Given the description of an element on the screen output the (x, y) to click on. 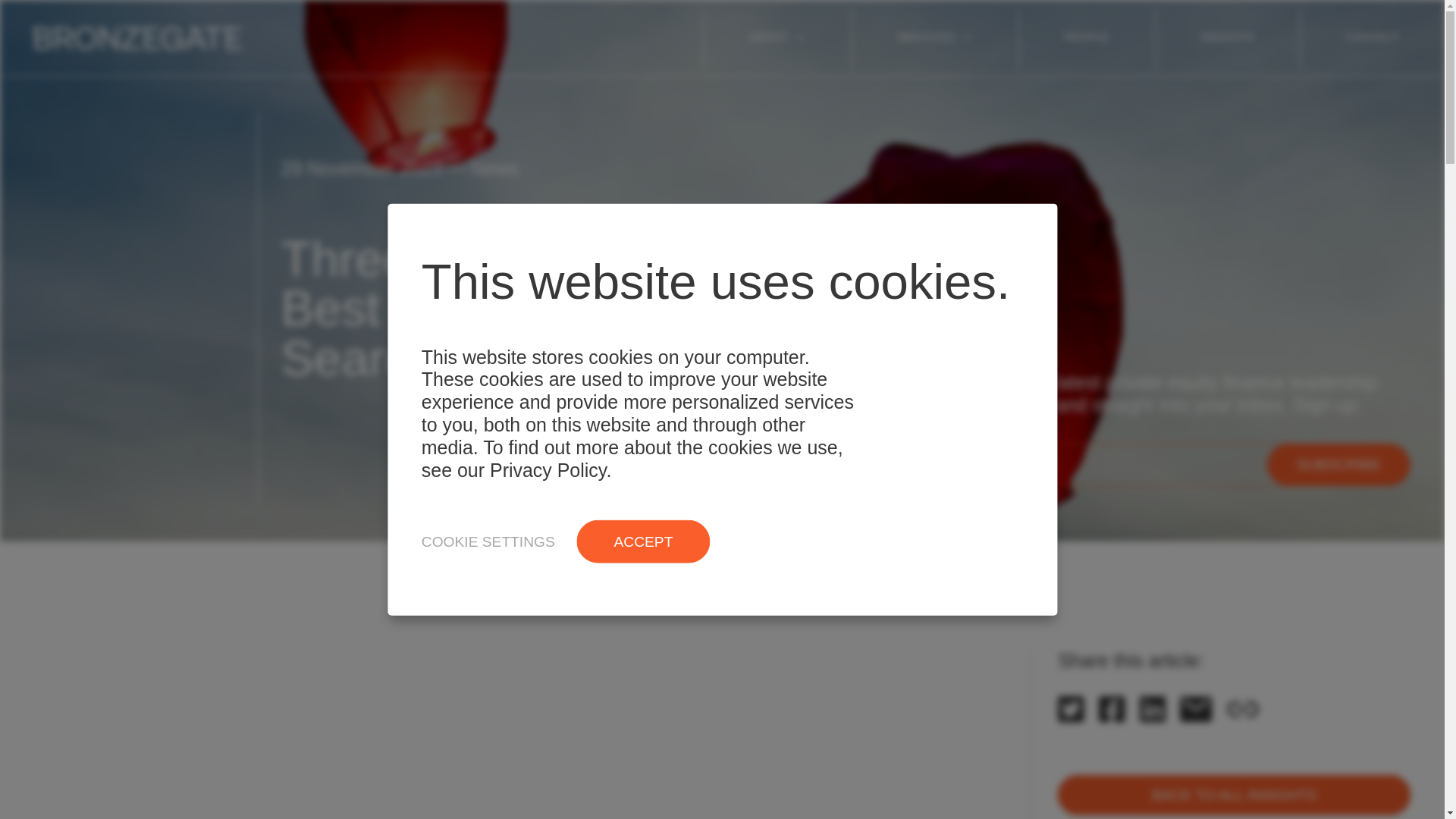
PEOPLE (1085, 37)
SERVICES (934, 37)
ABOUT (777, 37)
INSIGHTS (1227, 37)
BACK TO ALL INSIGHTS (1234, 794)
SUBSCRIBE (1337, 465)
